Given the description of an element on the screen output the (x, y) to click on. 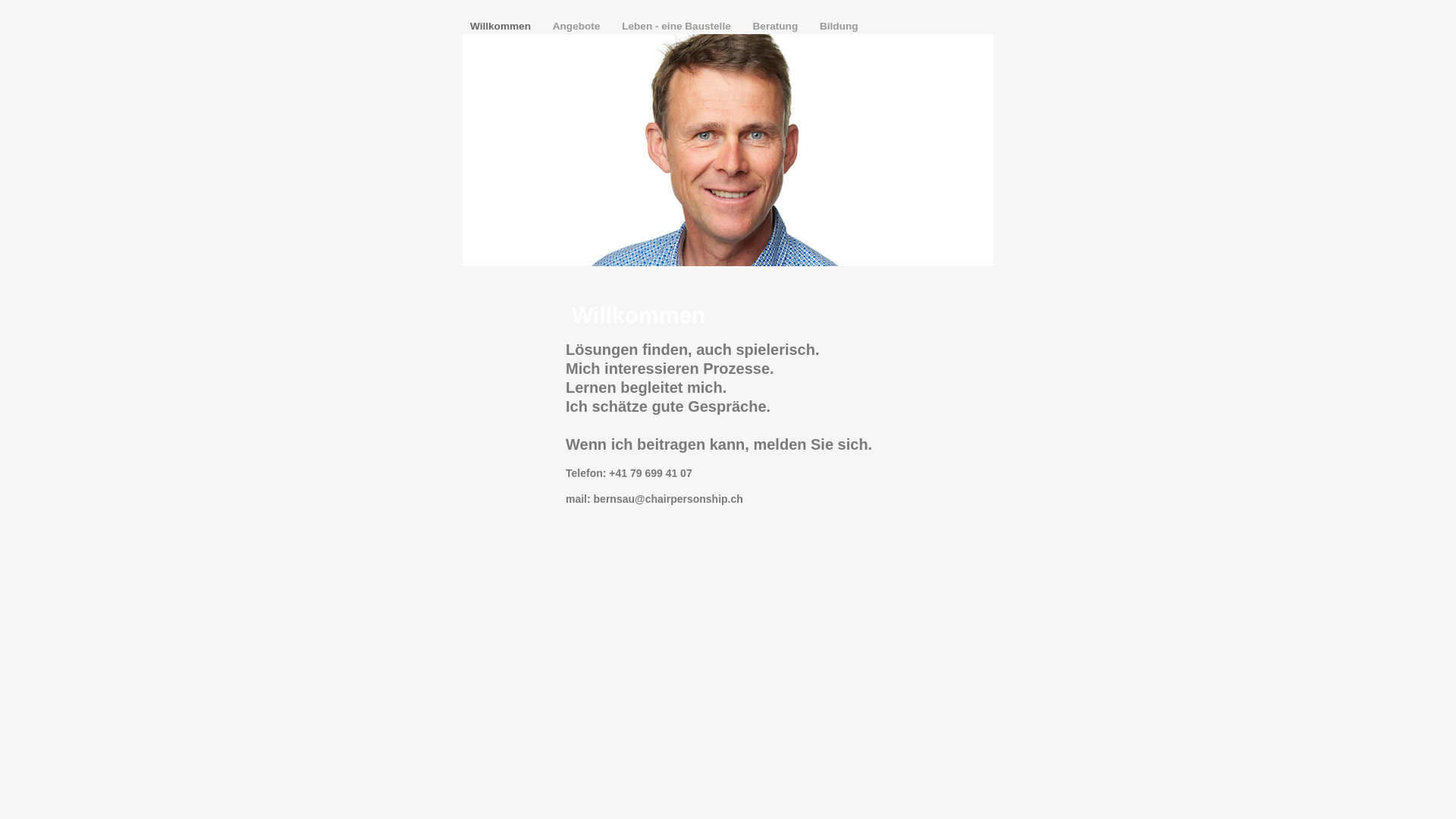
Beratung Element type: text (776, 25)
Bildung Element type: text (838, 25)
Angebote Element type: text (577, 25)
Willkommen Element type: text (501, 25)
Leben - eine Baustelle Element type: text (677, 25)
